Given the description of an element on the screen output the (x, y) to click on. 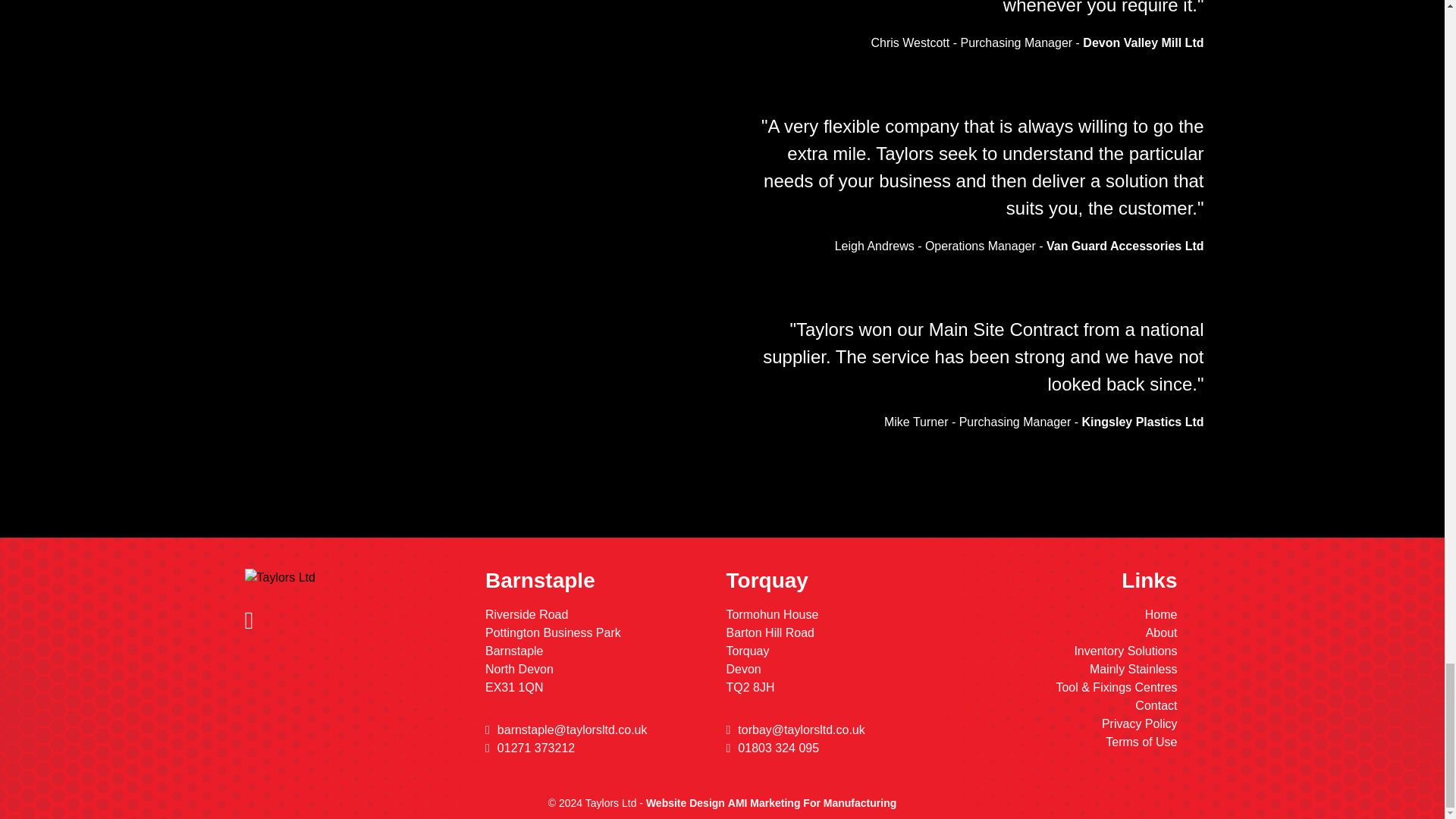
Mainly Stainless (1133, 668)
Privacy Policy (1139, 723)
01803 324 095 (831, 748)
Contact (1155, 705)
Website Design (685, 802)
Inventory Solutions (1125, 650)
logo (279, 577)
Terms of Use (1140, 741)
AMI Marketing For Manufacturing (812, 802)
About (1161, 632)
